Given the description of an element on the screen output the (x, y) to click on. 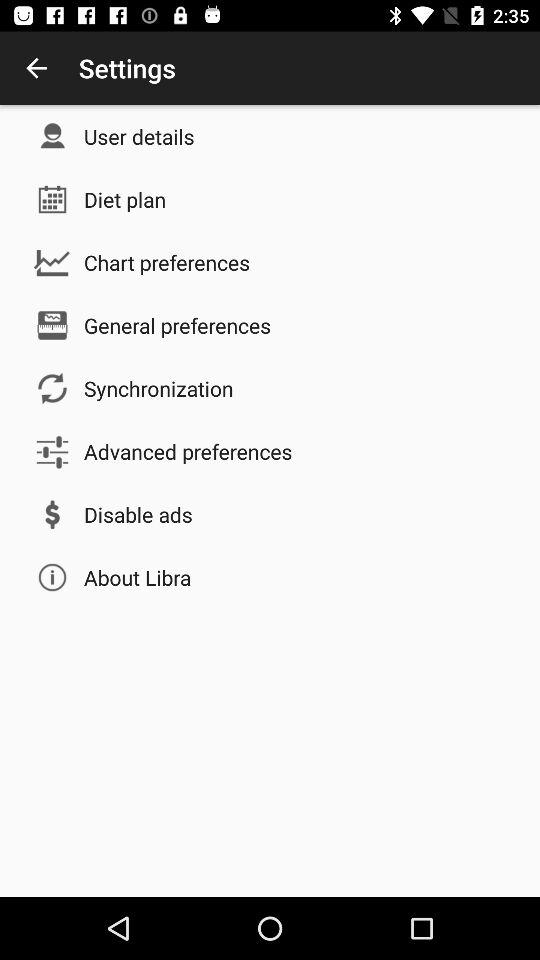
open icon below synchronization (188, 451)
